Given the description of an element on the screen output the (x, y) to click on. 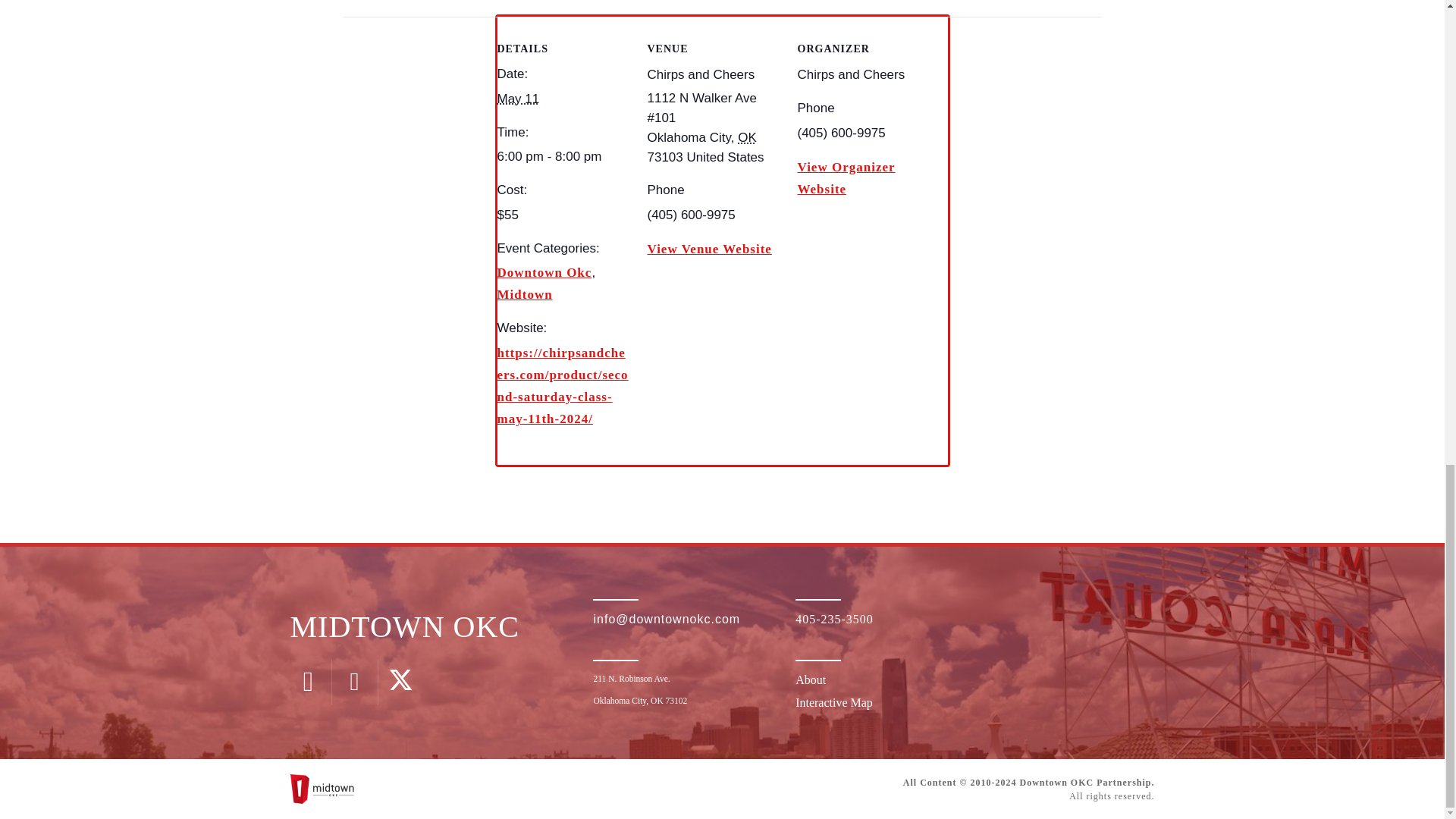
View Venue Website (709, 248)
Oklahoma (747, 137)
Downtown Okc (544, 272)
Midtown (525, 294)
2024-05-11 (518, 98)
Interactive Map (833, 702)
Instagram (307, 681)
2024-05-11 (562, 156)
Twitter (400, 681)
Facebook (354, 681)
